Given the description of an element on the screen output the (x, y) to click on. 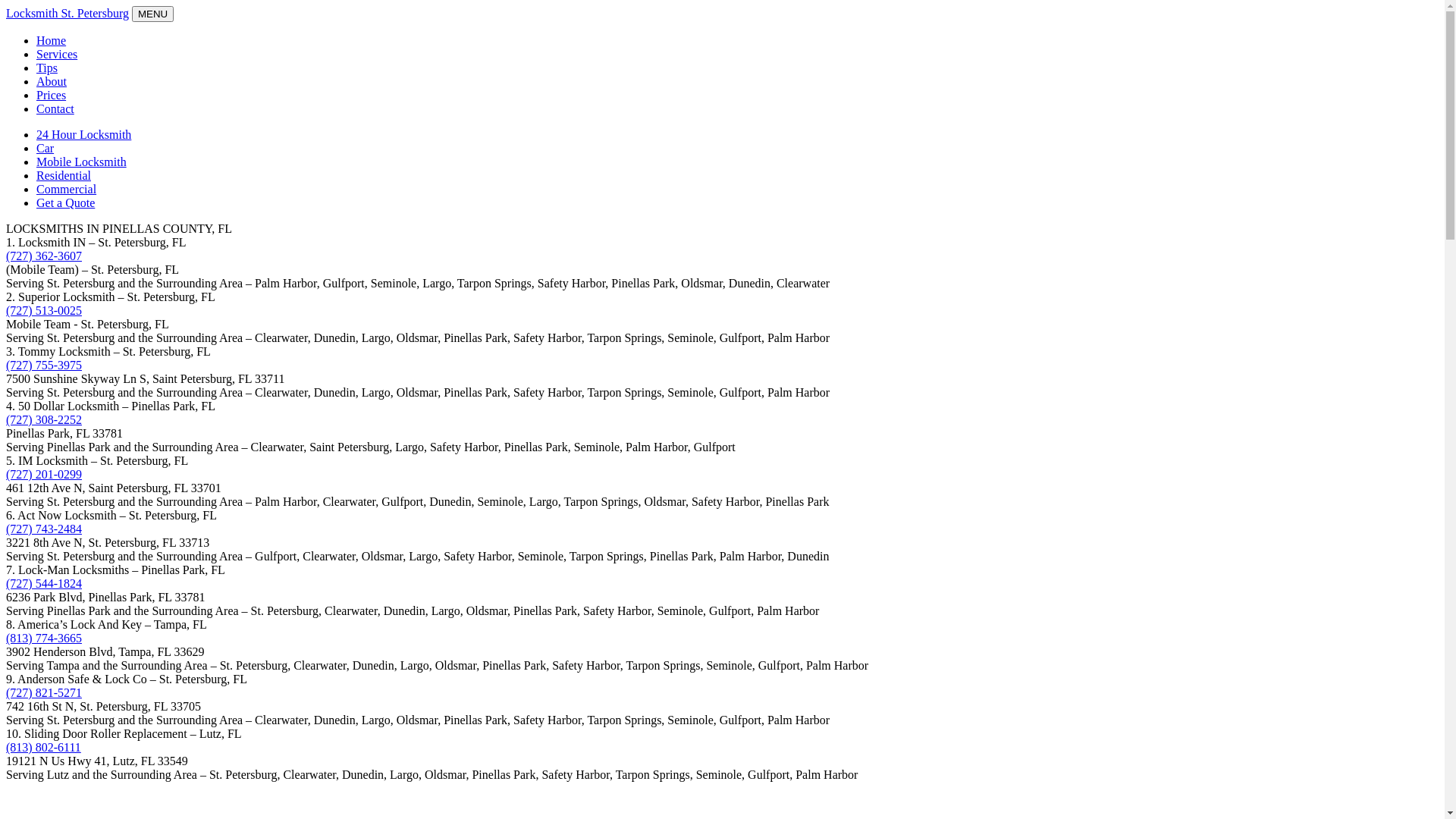
Contact Element type: text (55, 108)
MENU Element type: text (152, 13)
Tips Element type: text (46, 67)
About Element type: text (51, 81)
Home Element type: text (50, 40)
(727) 362-3607 Element type: text (43, 255)
(727) 821-5271 Element type: text (43, 692)
(727) 755-3975 Element type: text (43, 364)
Residential Element type: text (63, 175)
(727) 308-2252 Element type: text (43, 419)
(727) 743-2484 Element type: text (43, 528)
Services Element type: text (56, 53)
(727) 544-1824 Element type: text (43, 583)
(813) 802-6111 Element type: text (43, 746)
(727) 201-0299 Element type: text (43, 473)
Prices Element type: text (50, 94)
(813) 774-3665 Element type: text (43, 637)
Get a Quote Element type: text (65, 202)
Locksmith St. Petersburg Element type: text (67, 12)
Mobile Locksmith Element type: text (81, 161)
24 Hour Locksmith Element type: text (83, 134)
Car Element type: text (44, 147)
Commercial Element type: text (66, 188)
(727) 513-0025 Element type: text (43, 310)
